Given the description of an element on the screen output the (x, y) to click on. 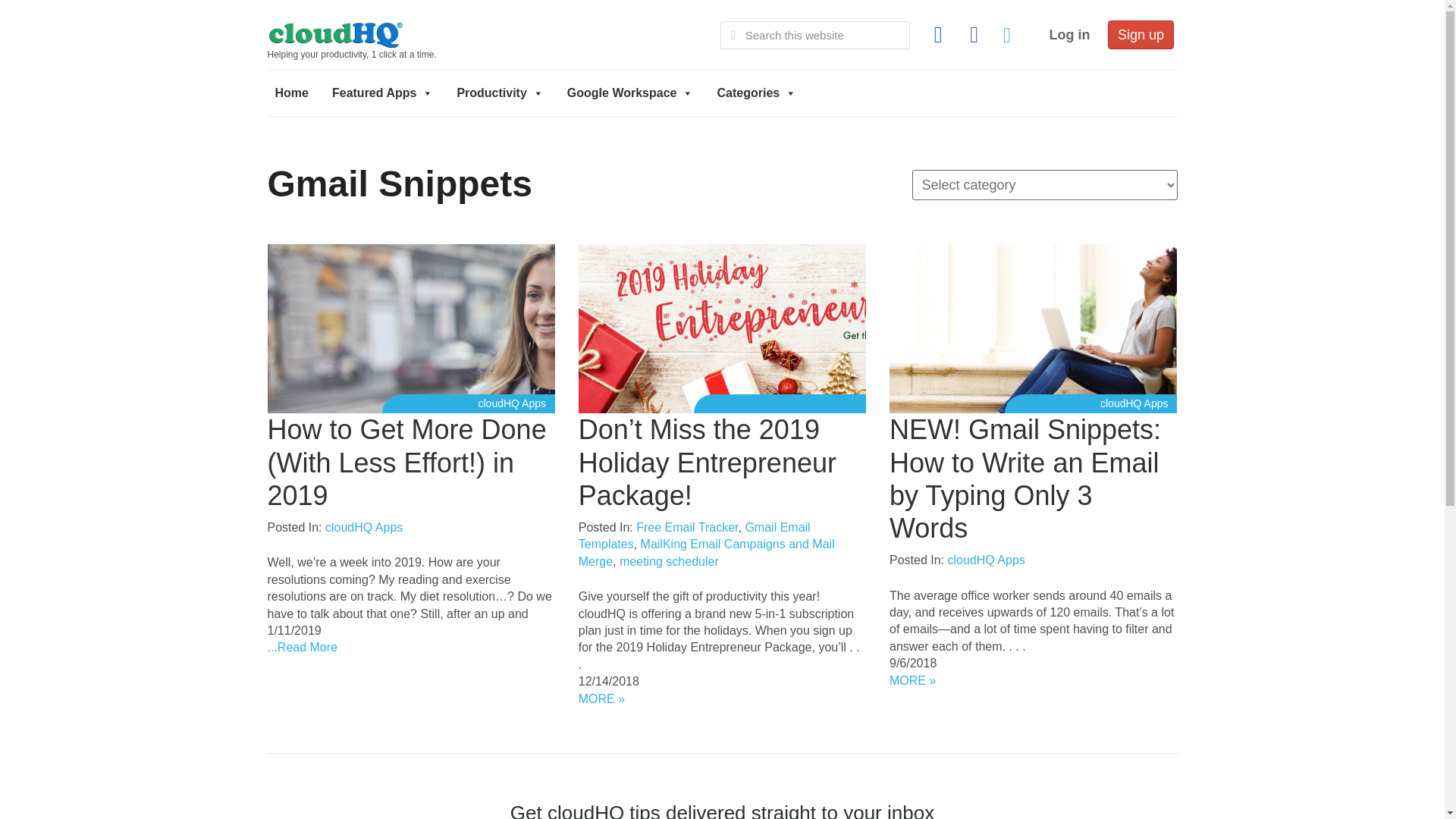
Sign up (1140, 34)
Facebook (974, 34)
Productivity (499, 92)
LinkedIn (938, 34)
category: cloudHQ Apps (1134, 403)
Google Workspace (630, 92)
Featured Apps (382, 92)
Categories (756, 92)
Twitter (1009, 34)
category: cloudHQ Apps (511, 403)
Home (290, 92)
